Given the description of an element on the screen output the (x, y) to click on. 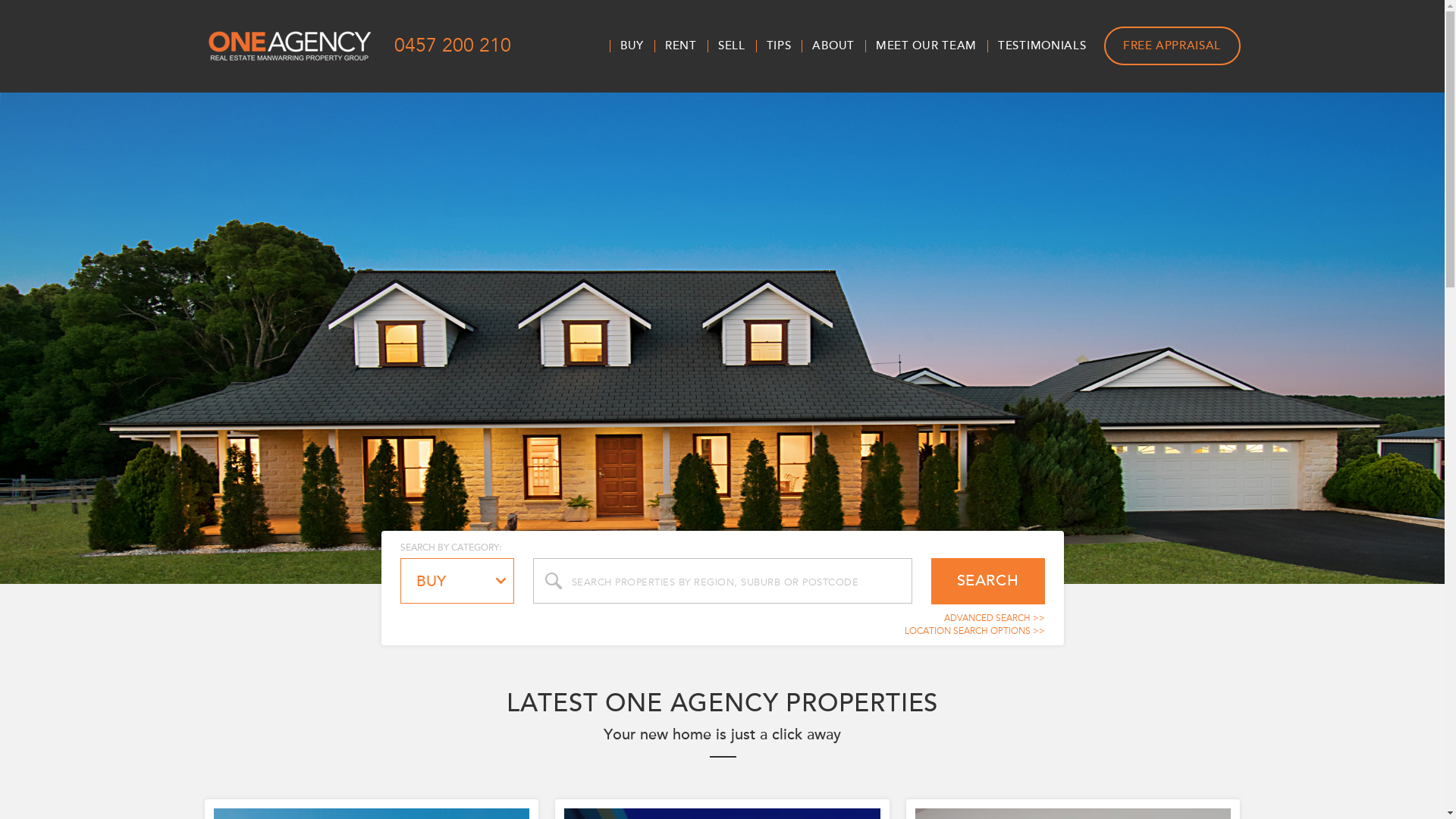
MEET OUR TEAM Element type: text (926, 45)
TESTIMONIALS Element type: text (1041, 45)
SELL Element type: text (731, 45)
0457 200 210 Element type: text (451, 45)
ABOUT Element type: text (833, 45)
RENT Element type: text (680, 45)
SEARCH Element type: text (987, 581)
BUY Element type: text (457, 580)
ADVANCED SEARCH >> Element type: text (993, 617)
TIPS Element type: text (779, 45)
FREE APPRAISAL Element type: text (1172, 45)
LOCATION SEARCH OPTIONS >> Element type: text (973, 630)
BUY Element type: text (631, 45)
